Given the description of an element on the screen output the (x, y) to click on. 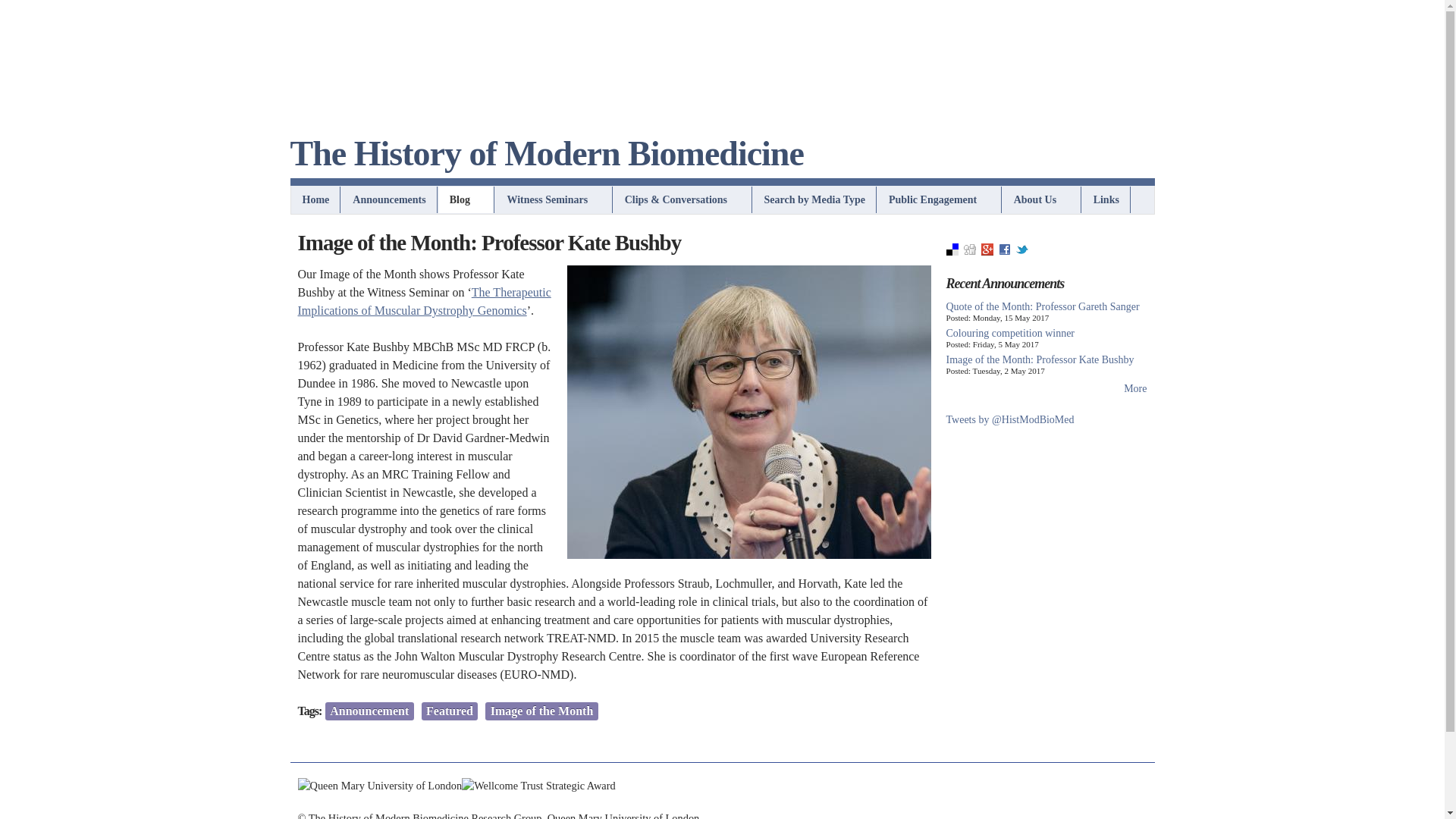
Home (315, 199)
Home page (721, 158)
The History of Modern Biomedicine (721, 158)
Announcements (389, 199)
View a listing of news stories. (389, 199)
View a listing of blog posts. (467, 199)
